Given the description of an element on the screen output the (x, y) to click on. 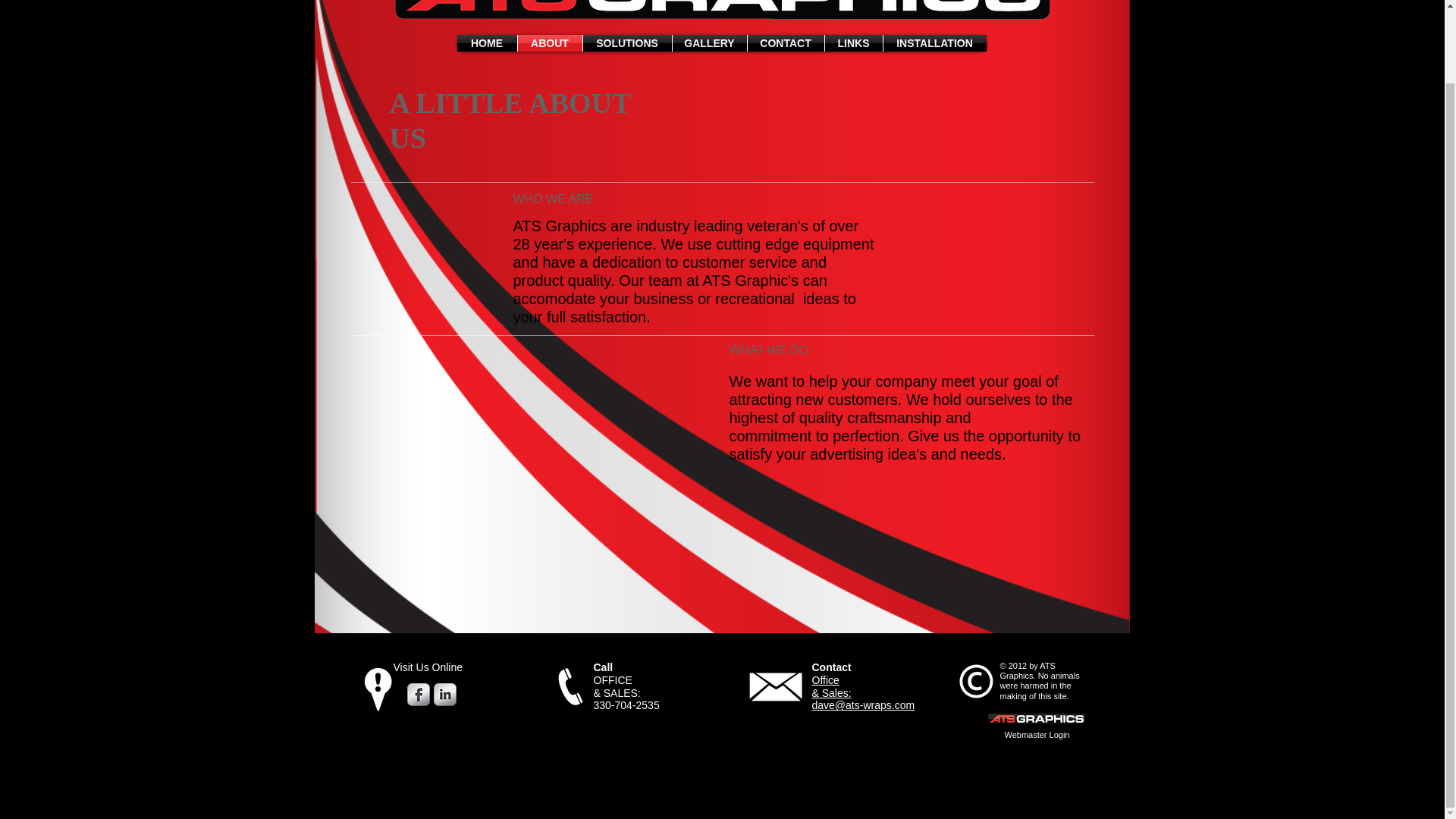
HOME (486, 43)
GALLERY (708, 43)
INSTALLATION (933, 43)
LINKS (853, 43)
ABOUT (548, 43)
Webmaster Login (1036, 735)
CONTACT (786, 43)
SOLUTIONS (626, 43)
